Given the description of an element on the screen output the (x, y) to click on. 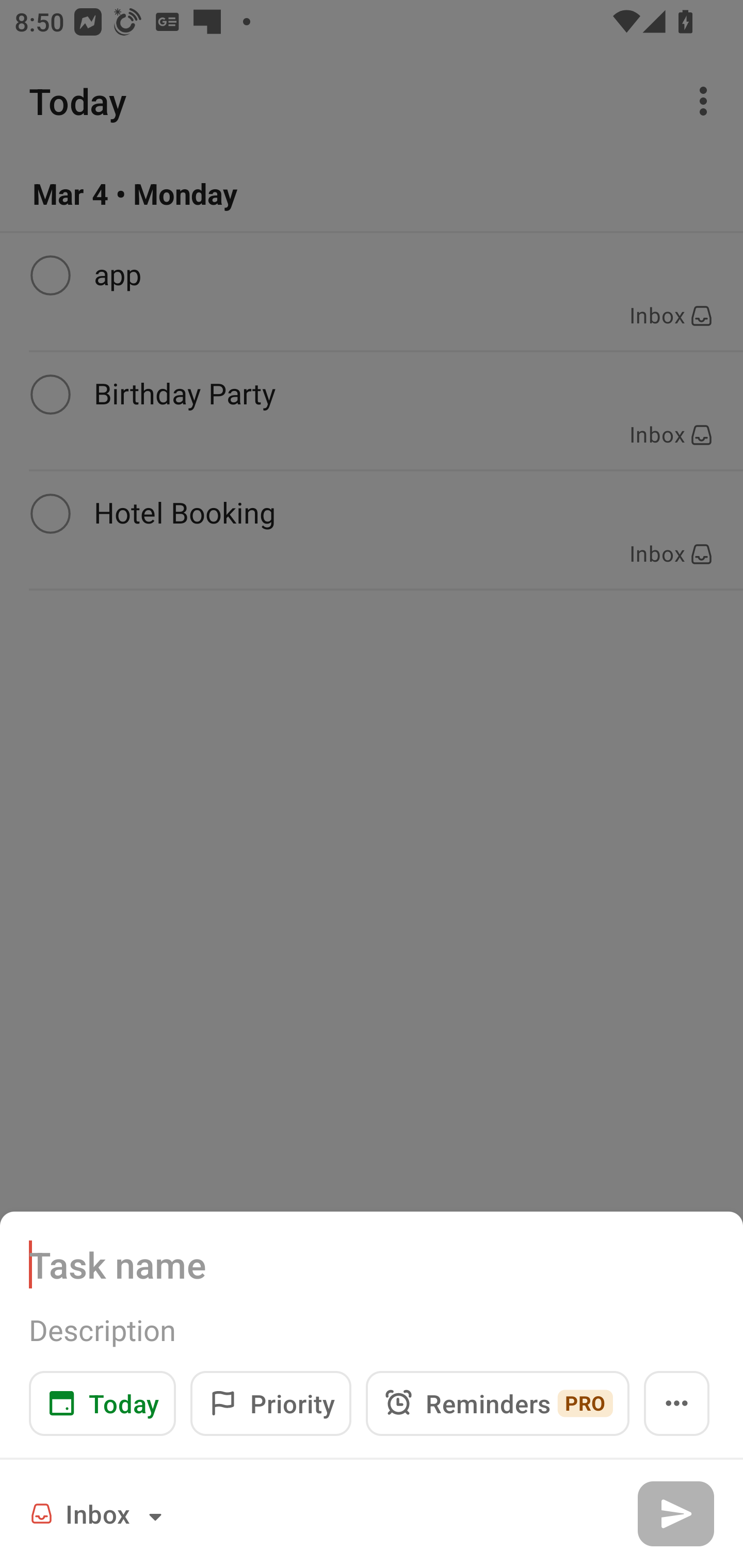
Task name (371, 1264)
Description (371, 1330)
Today Date (102, 1403)
Priority (270, 1403)
Reminders PRO Reminders (497, 1403)
Open menu (676, 1403)
Inbox Project (99, 1513)
Add (675, 1513)
